Given the description of an element on the screen output the (x, y) to click on. 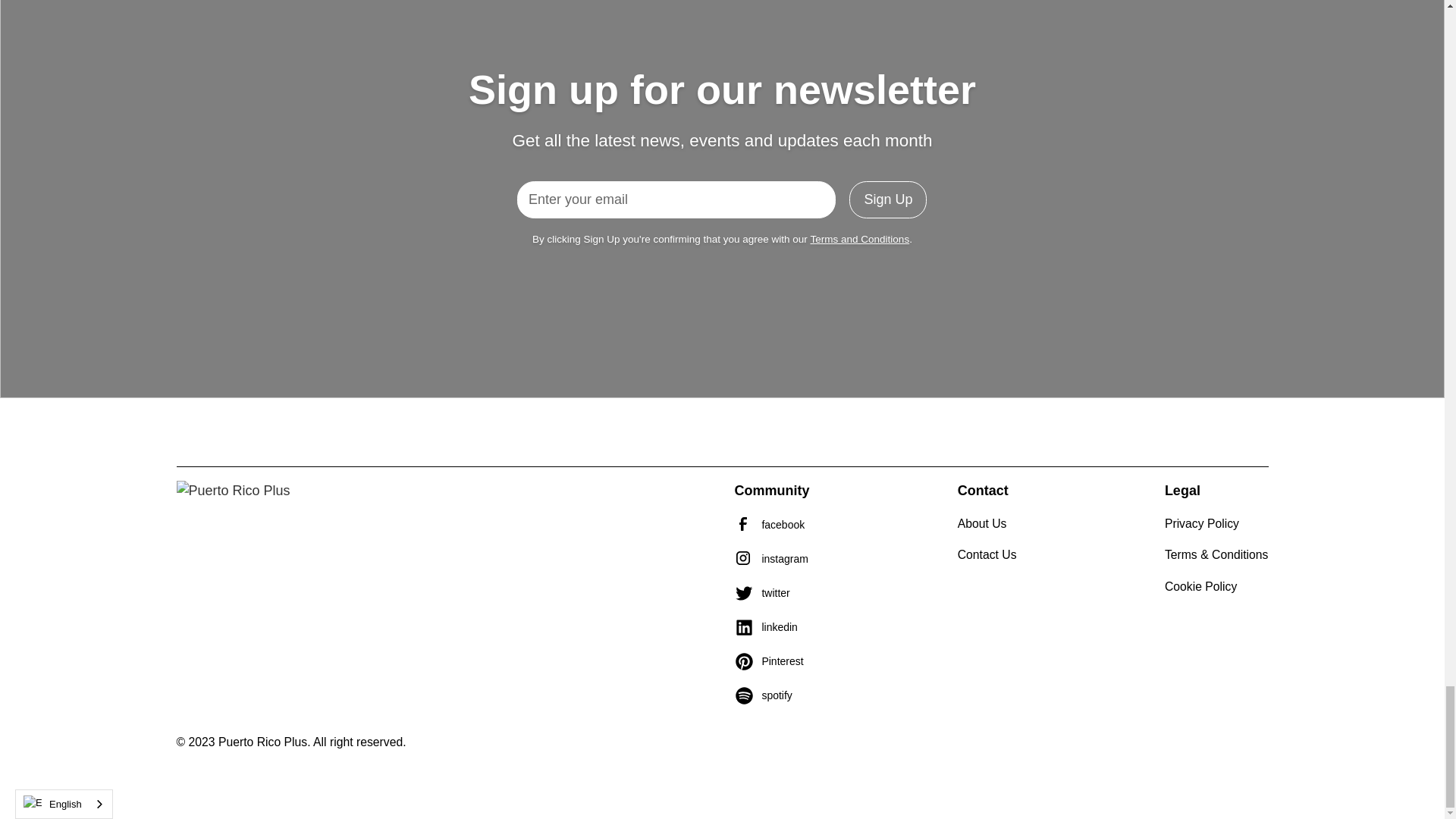
Sign Up (887, 199)
